Given the description of an element on the screen output the (x, y) to click on. 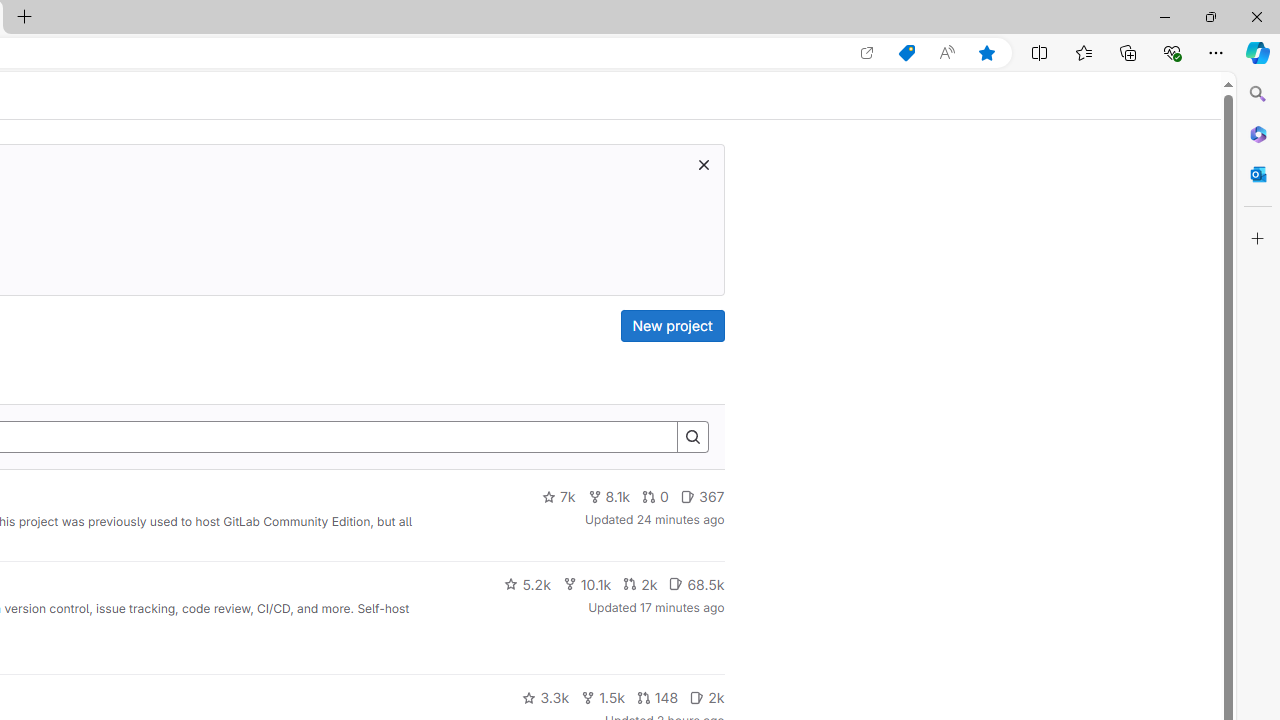
Class: s16 gl-icon gl-button-icon  (703, 164)
